Given the description of an element on the screen output the (x, y) to click on. 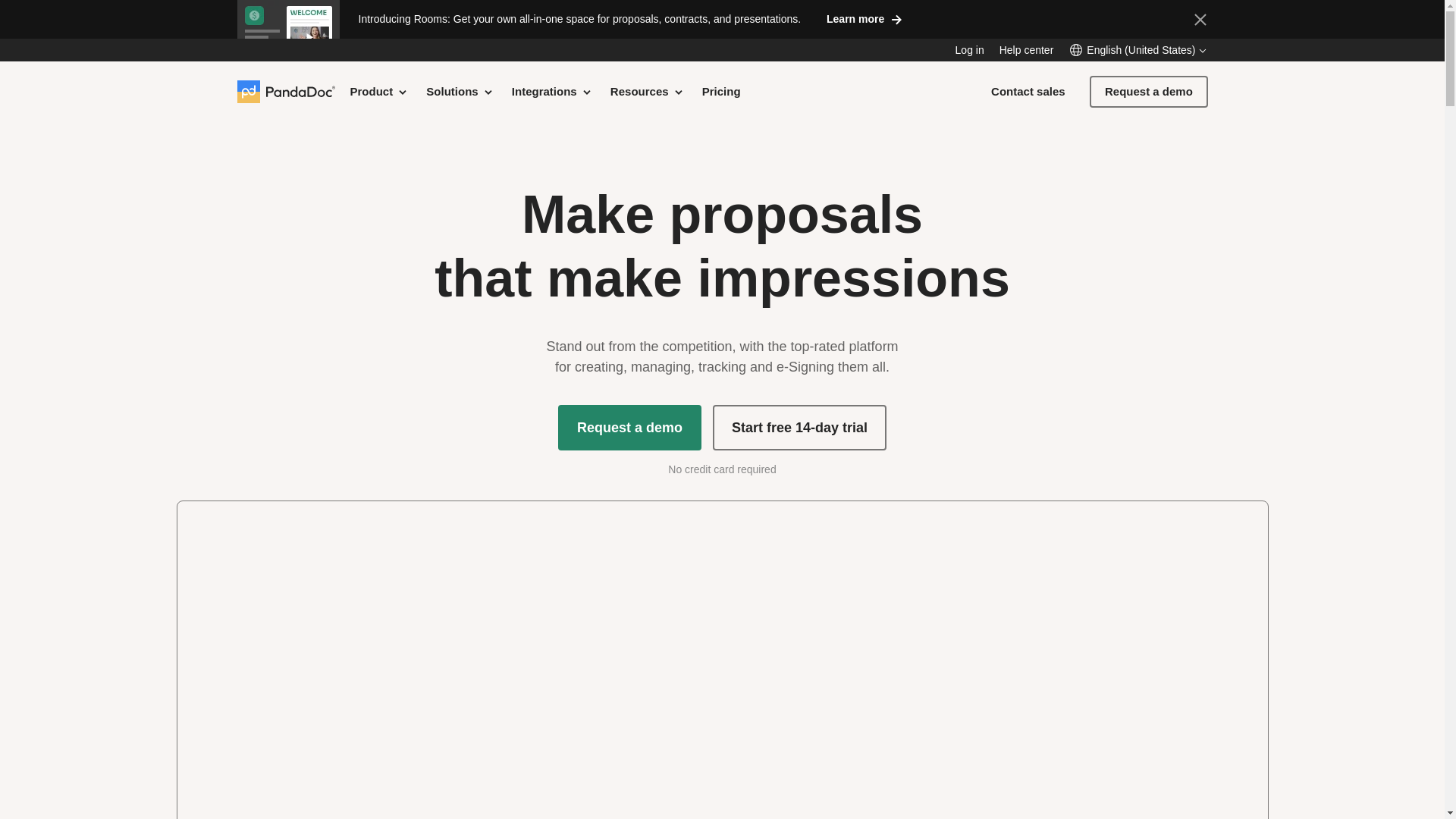
Solutions (459, 91)
Product (379, 91)
Learn more (864, 18)
Log in (969, 50)
Help center (1026, 50)
